Given the description of an element on the screen output the (x, y) to click on. 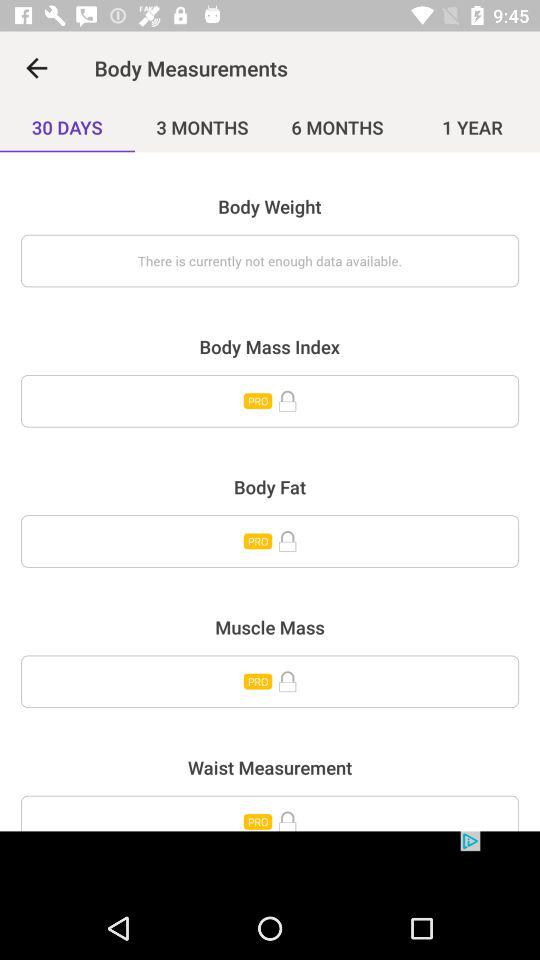
menu page (269, 401)
